Given the description of an element on the screen output the (x, y) to click on. 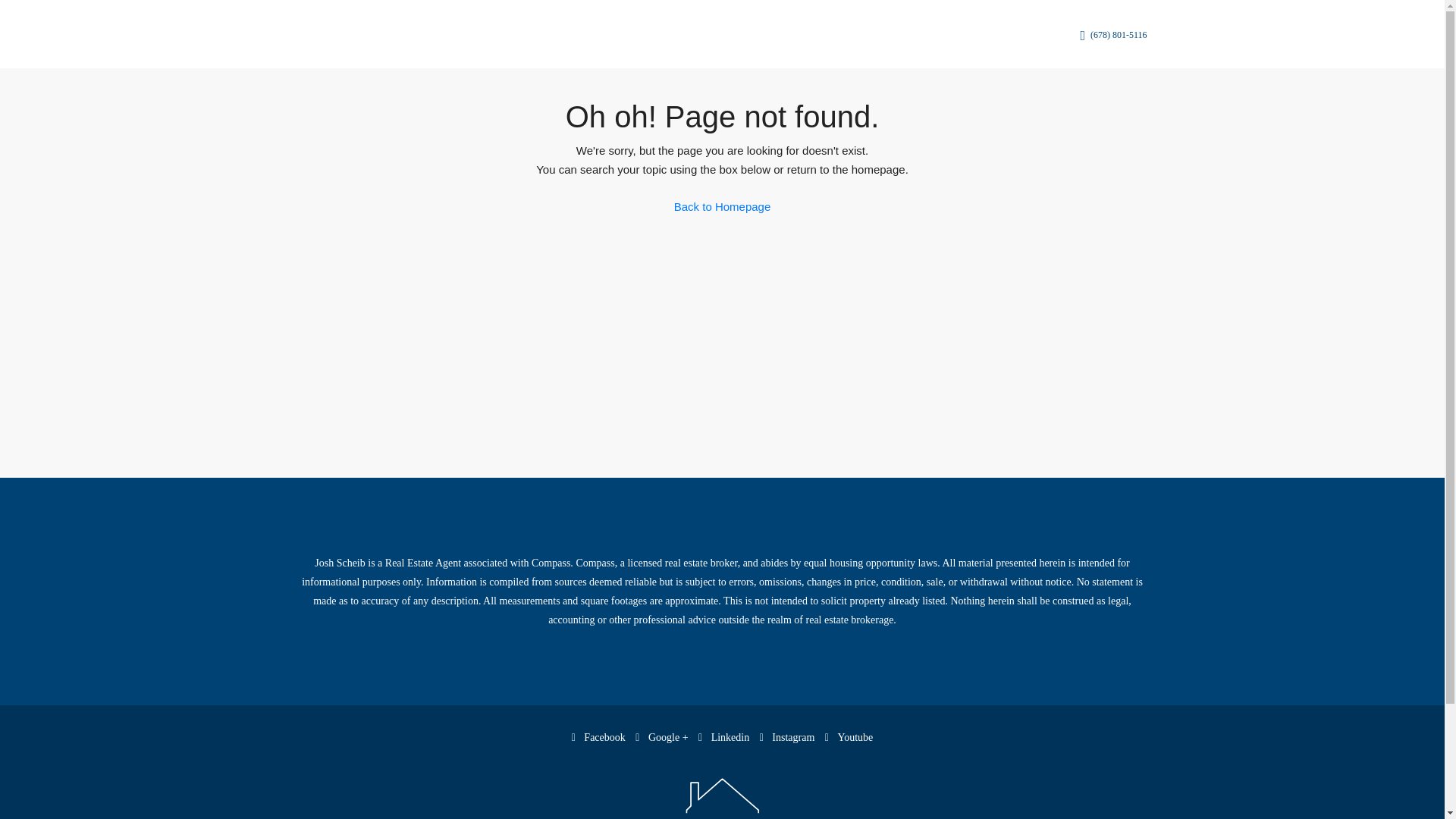
Communities (675, 34)
